Given the description of an element on the screen output the (x, y) to click on. 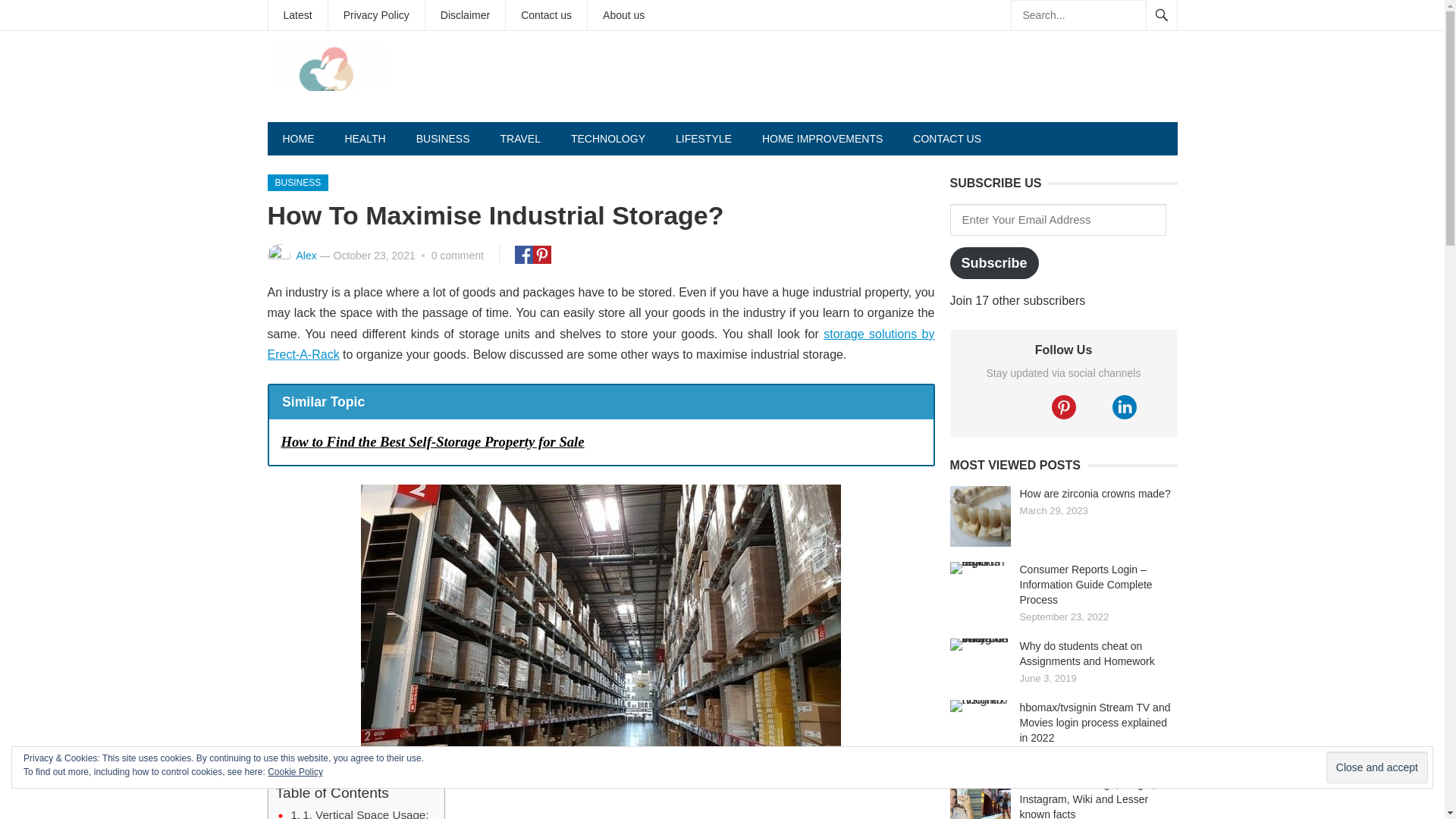
Contact us (545, 15)
BUSINESS (442, 138)
Close and accept (1377, 766)
Posts by Alex (305, 255)
1. Vertical Space Usage: (360, 812)
TECHNOLOGY (608, 138)
LIFESTYLE (703, 138)
Industrial Storage  (601, 619)
BUSINESS (297, 182)
Privacy Policy (377, 15)
